Given the description of an element on the screen output the (x, y) to click on. 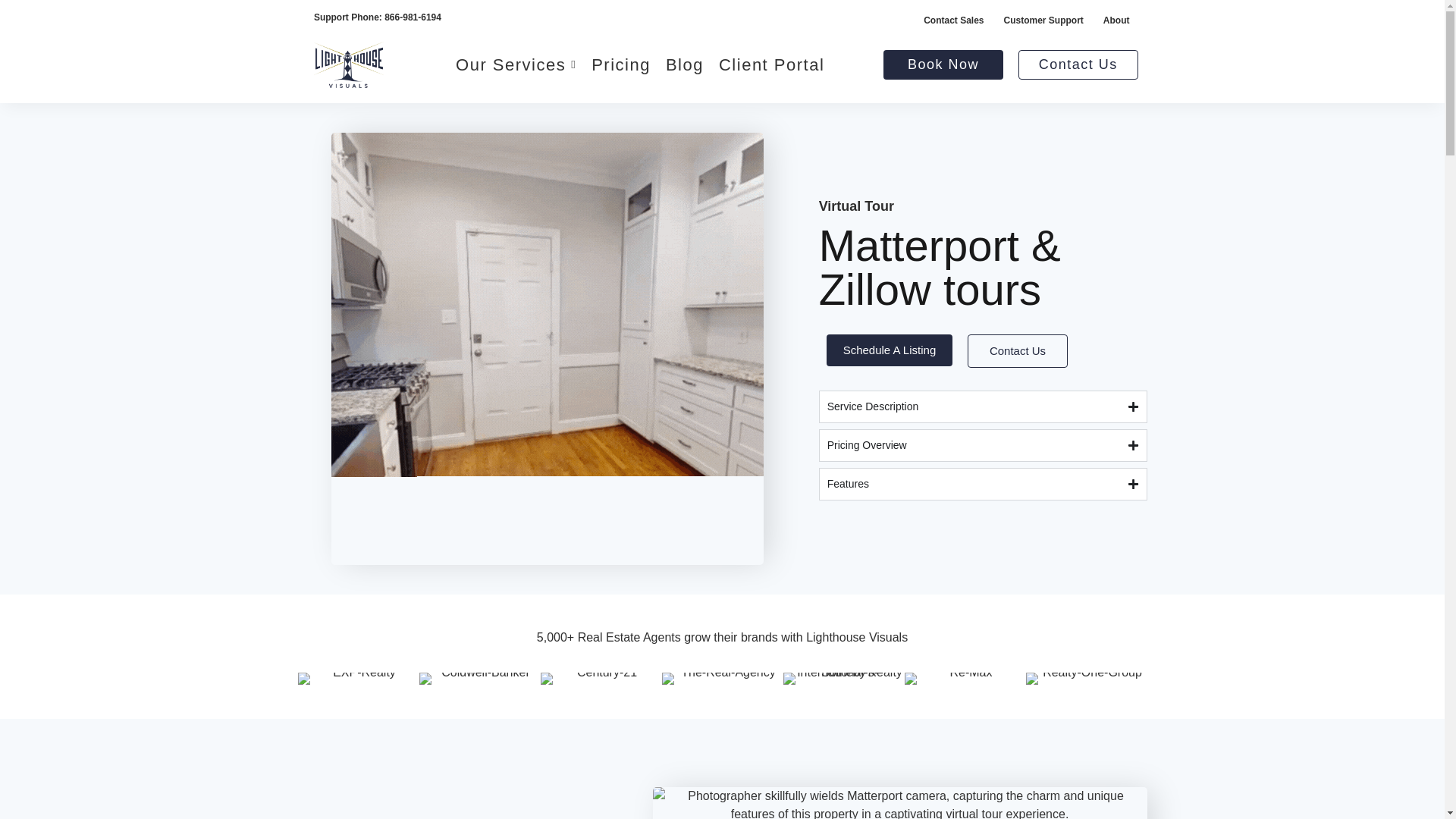
Client Portal (771, 65)
Contact Us (1017, 351)
Contact Us (1077, 64)
About (1116, 20)
Virtual Tours 8 (1086, 678)
Blog (684, 65)
Virtual Tours 3 (479, 678)
Virtual Tours 7 (964, 678)
Virtual Tours 4 (600, 678)
